Given the description of an element on the screen output the (x, y) to click on. 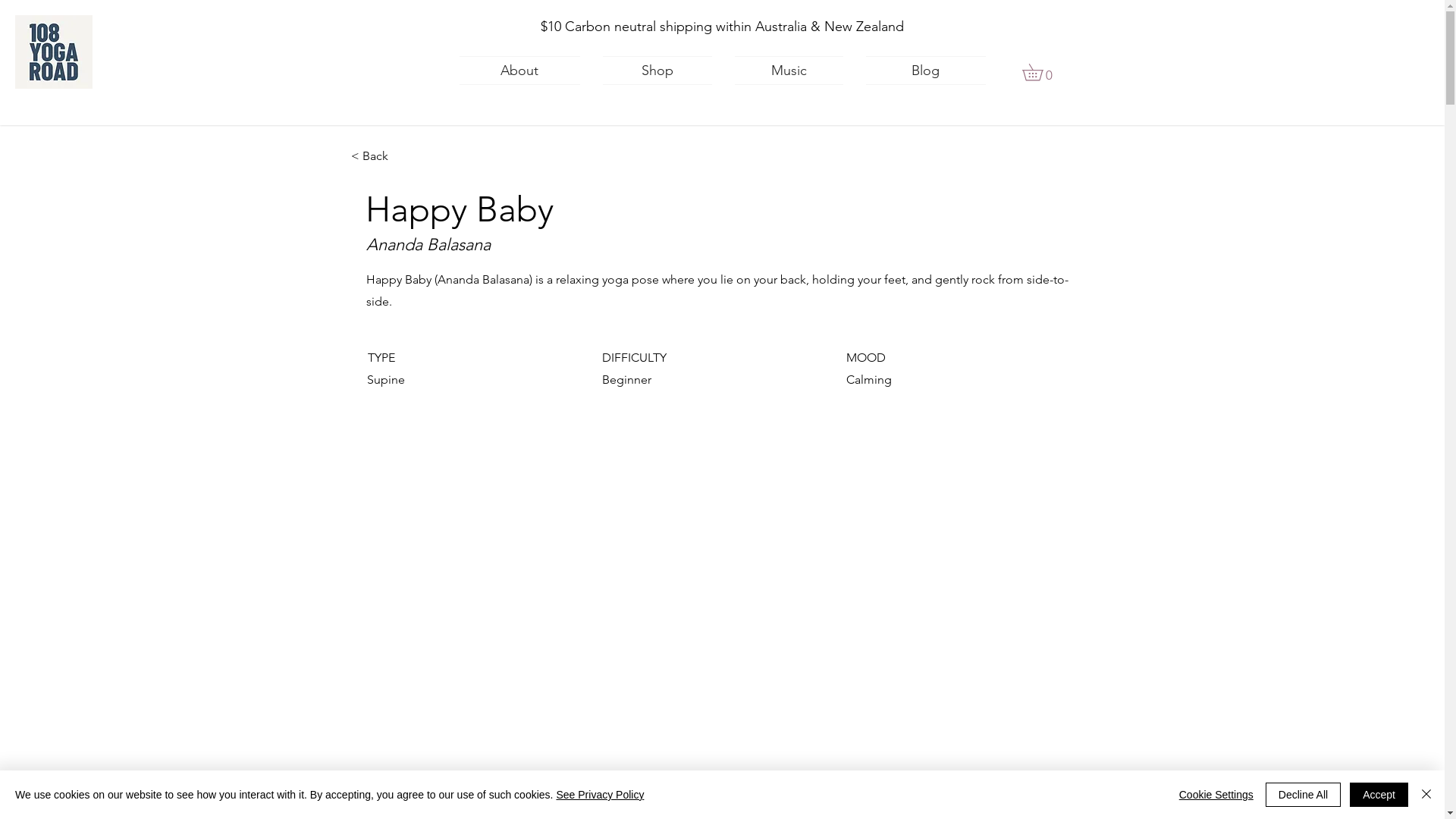
Blog Element type: text (919, 70)
Accept Element type: text (1378, 794)
About Element type: text (525, 70)
0 Element type: text (1040, 72)
See Privacy Policy Element type: text (599, 794)
< Back Element type: text (400, 156)
Music Element type: text (788, 70)
Decline All Element type: text (1302, 794)
Shop Element type: text (657, 70)
